Given the description of an element on the screen output the (x, y) to click on. 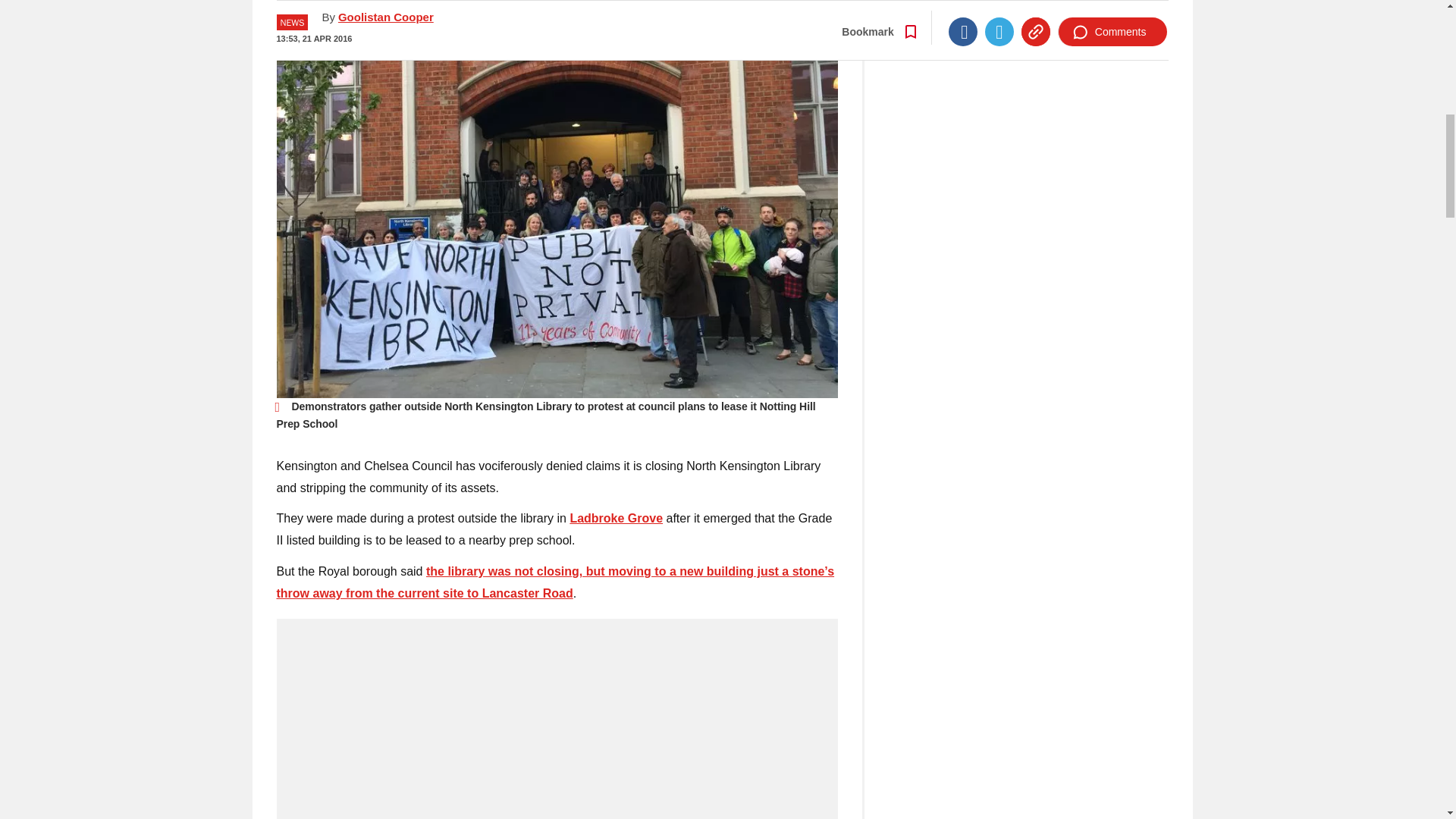
Go (730, 2)
